Given the description of an element on the screen output the (x, y) to click on. 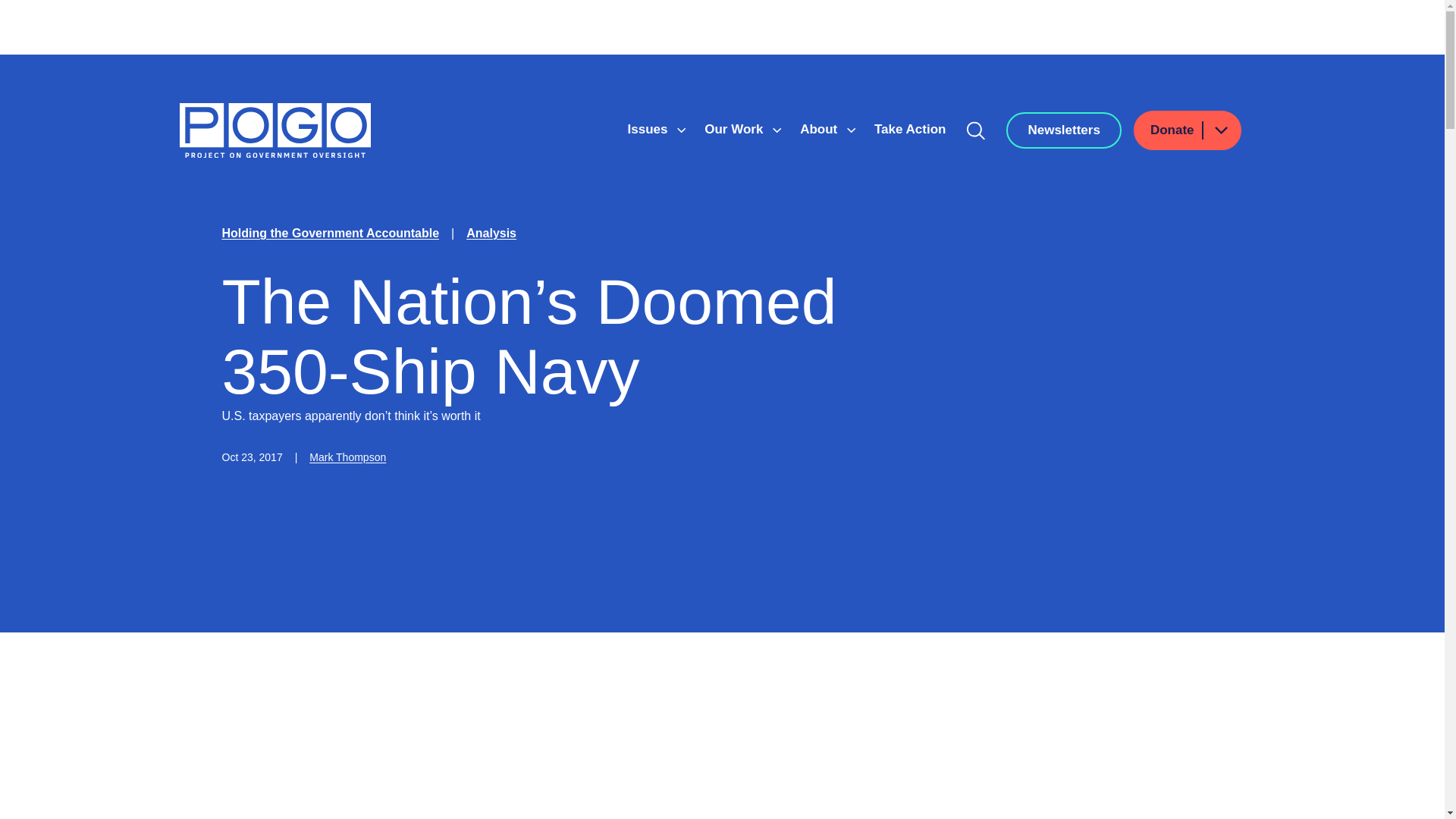
Our Work (735, 129)
Take Action (909, 129)
Issues (649, 129)
Home (274, 130)
About (820, 129)
Search (976, 130)
Newsletters (1063, 130)
Show submenu for Donate (1220, 129)
Show submenu for Issues (681, 130)
Donate (1187, 130)
